Given the description of an element on the screen output the (x, y) to click on. 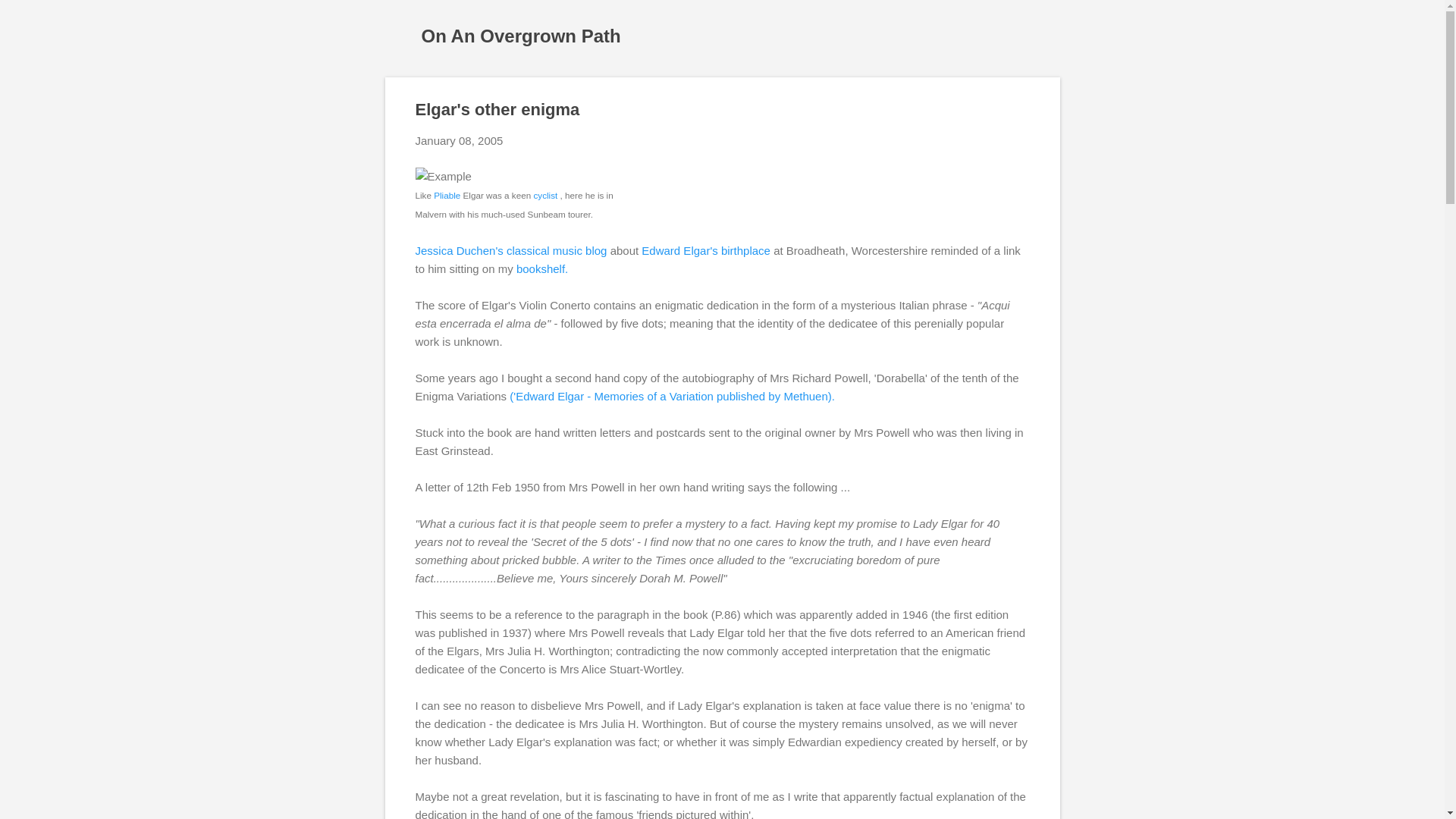
January 08, 2005 (458, 140)
Jessica Duchen's classical music blog (510, 250)
Pliable (446, 194)
permanent link (458, 140)
Search (29, 18)
bookshelf. (541, 268)
cyclist (544, 194)
On An Overgrown Path (521, 35)
Edward Elgar's birthplace (706, 250)
